Given the description of an element on the screen output the (x, y) to click on. 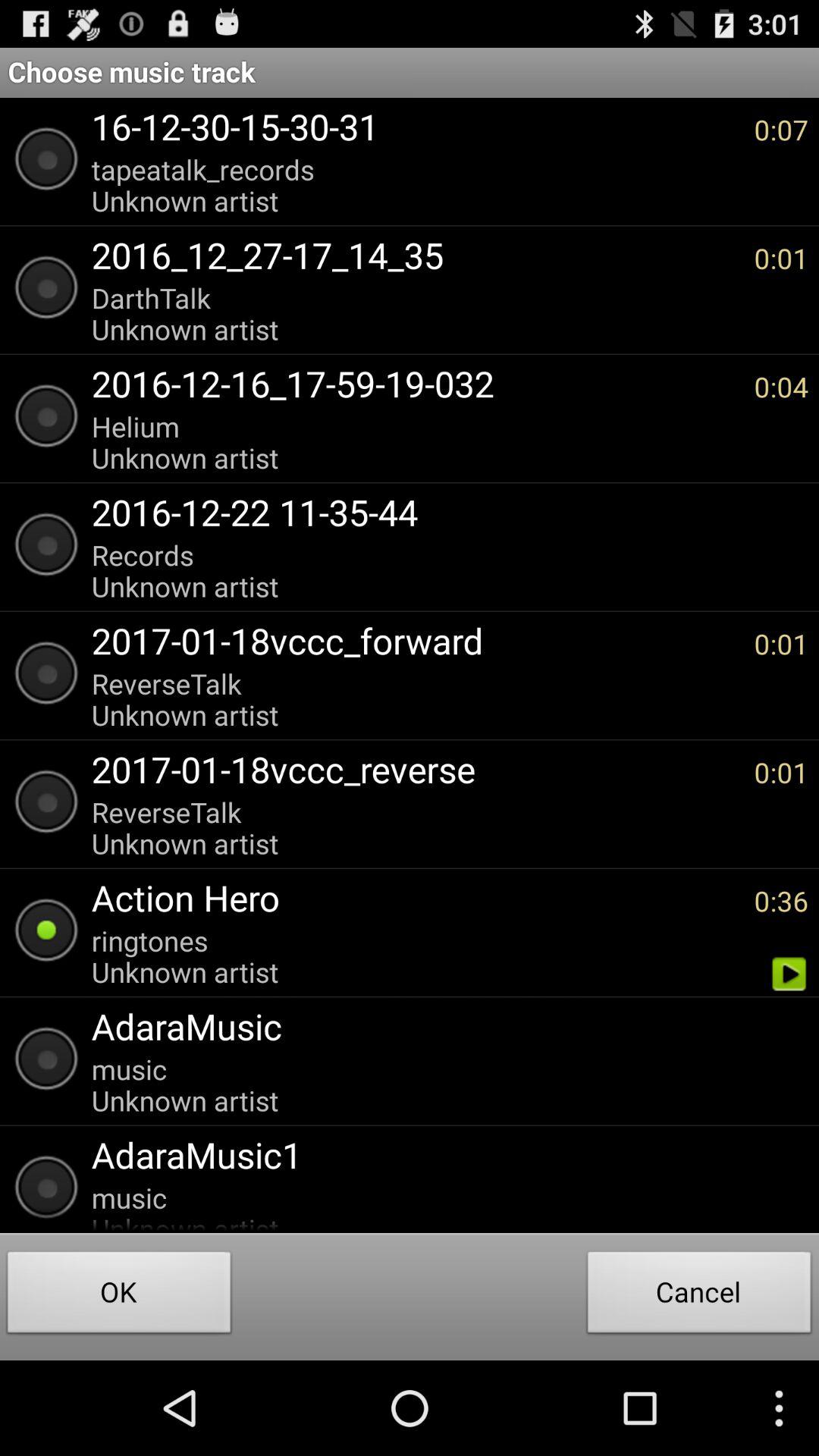
open icon below the reversetalk
unknown artist (414, 897)
